Given the description of an element on the screen output the (x, y) to click on. 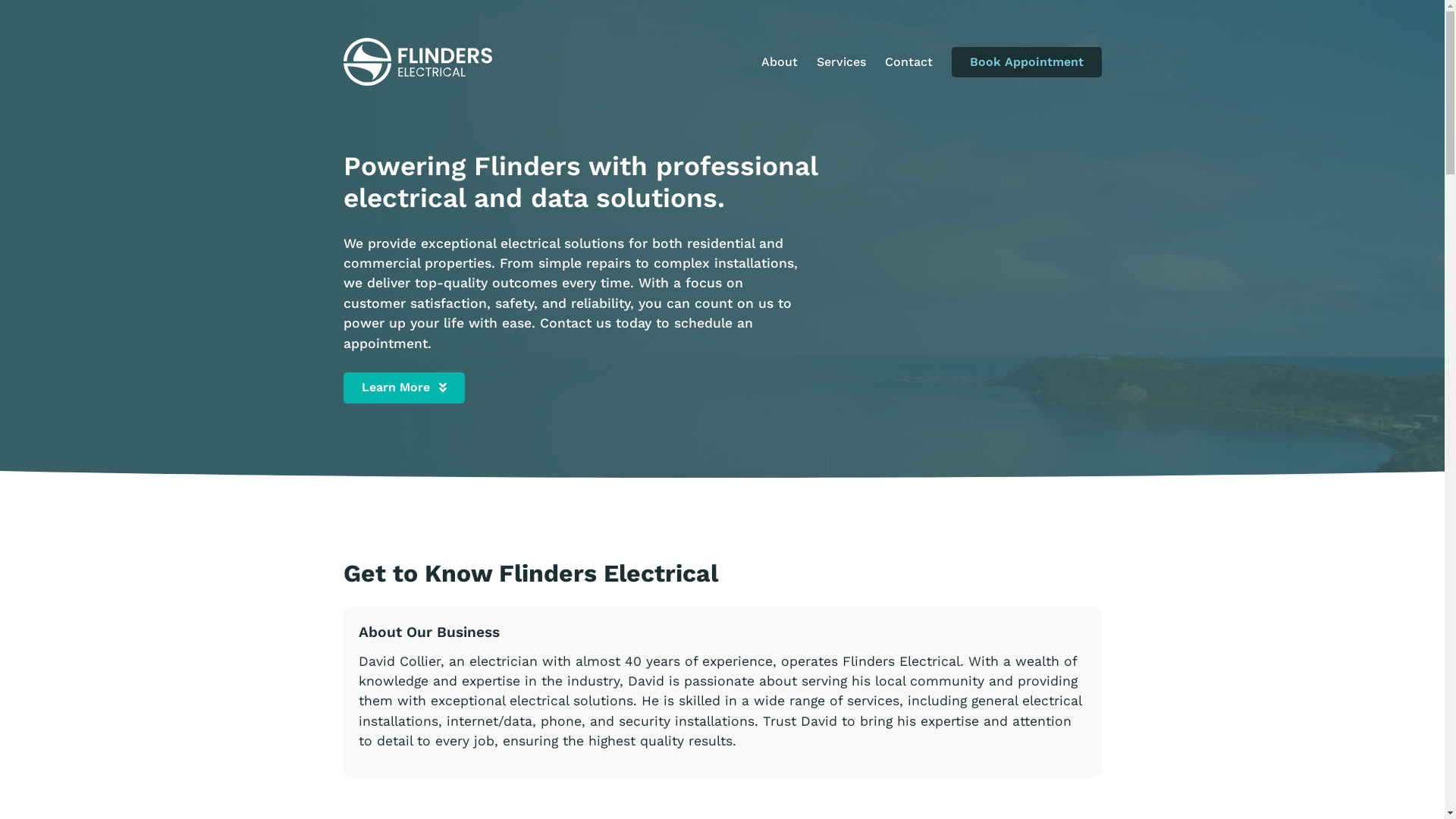
Services Element type: text (840, 61)
Learn More Element type: text (403, 387)
Contact Element type: text (907, 61)
About Element type: text (779, 61)
Book Appointment Element type: text (1025, 62)
